Given the description of an element on the screen output the (x, y) to click on. 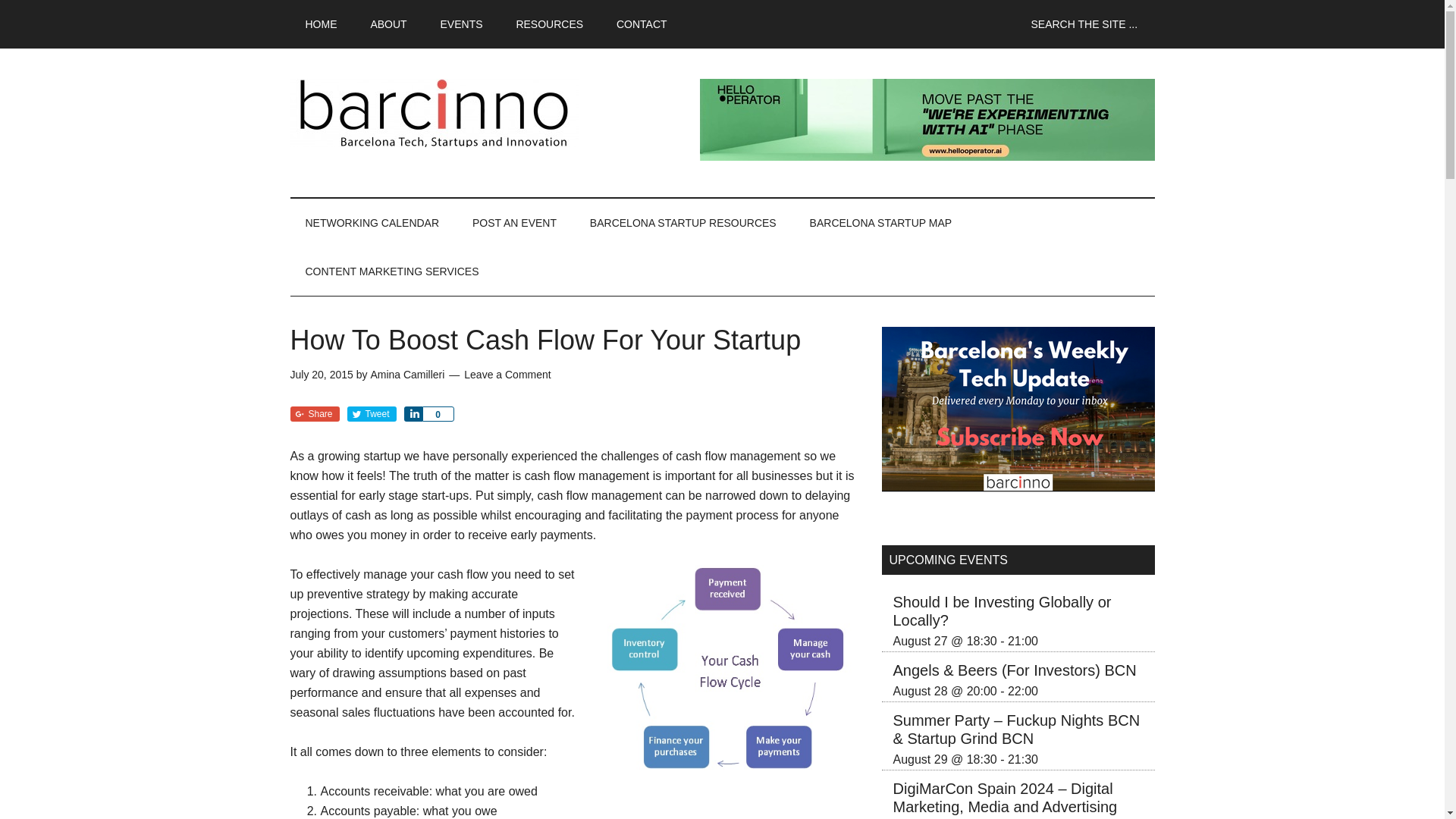
NETWORKING CALENDAR (371, 223)
Barcinno (433, 112)
0 (437, 413)
BARCELONA STARTUP MAP (881, 223)
Share (314, 413)
Leave a Comment (507, 374)
Tweet (371, 413)
Amina Camilleri (406, 374)
BARCELONA STARTUP RESOURCES (683, 223)
